Given the description of an element on the screen output the (x, y) to click on. 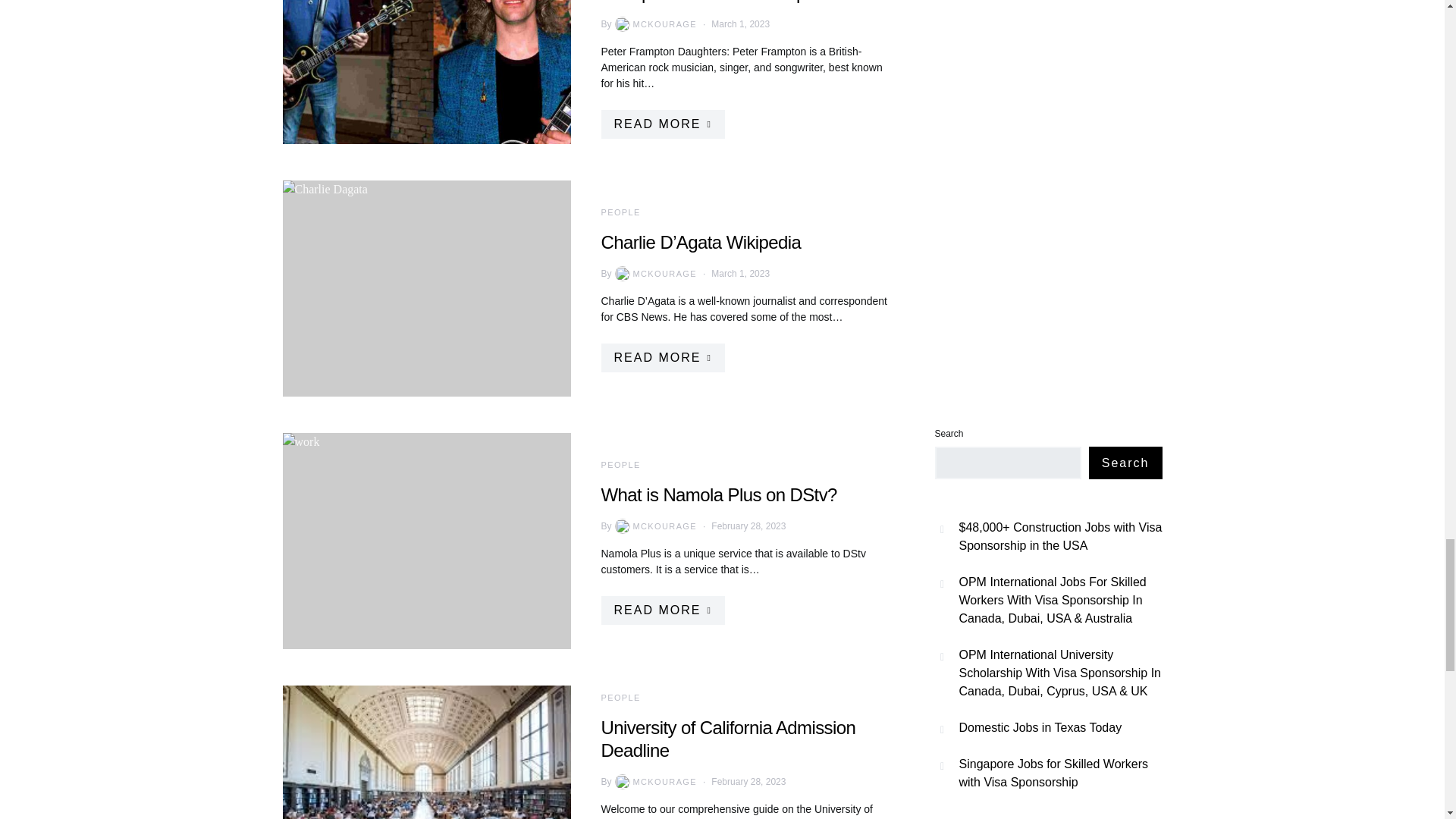
What is Namola Plus on DStv? (717, 494)
MCKOURAGE (654, 273)
PEOPLE (619, 212)
READ MORE (661, 123)
View all posts by Mckourage (654, 525)
View all posts by Mckourage (654, 23)
MCKOURAGE (654, 781)
View all posts by Mckourage (654, 781)
PEOPLE (619, 464)
